Given the description of an element on the screen output the (x, y) to click on. 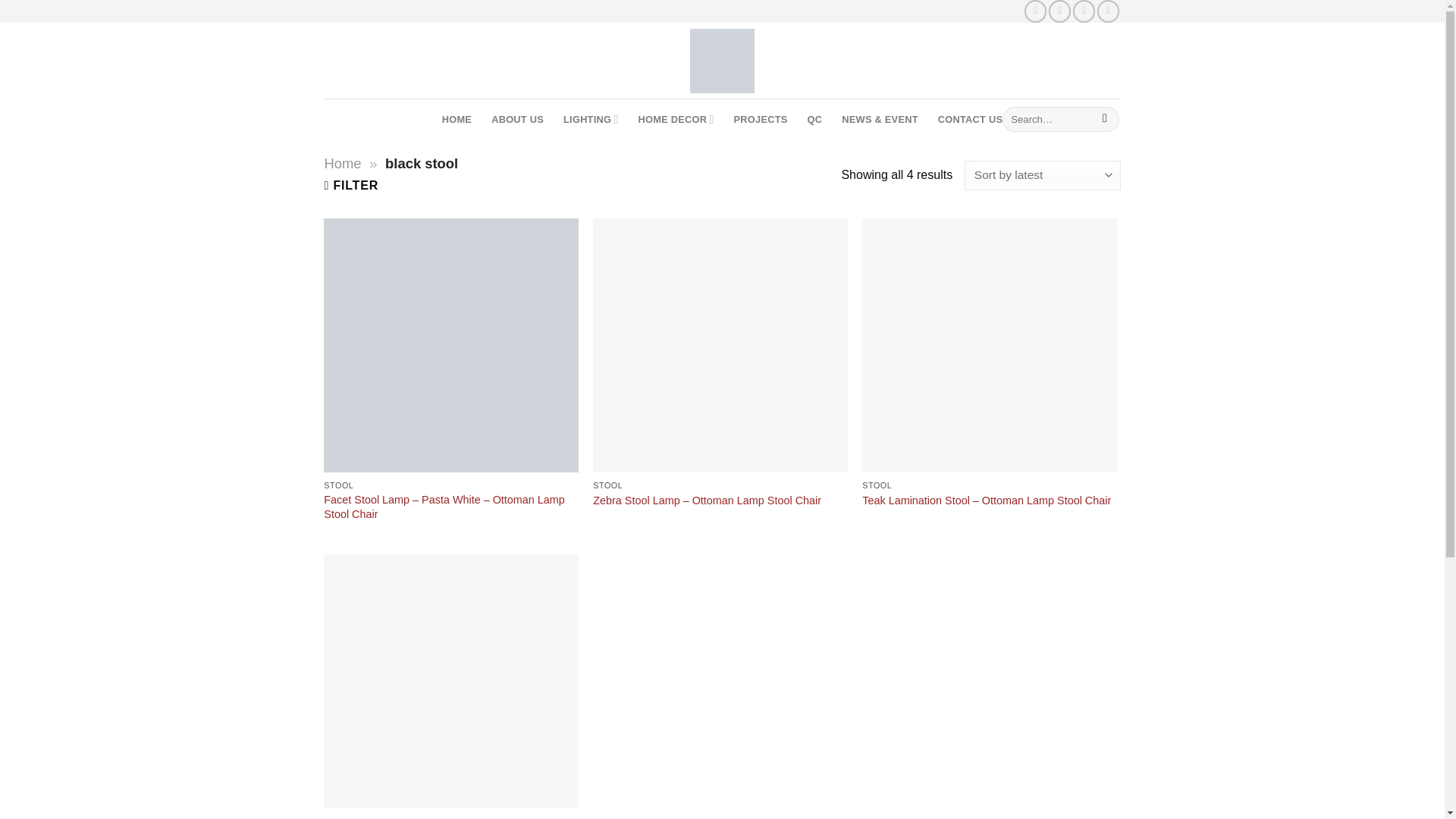
Send us an email (1083, 11)
Subscribe to RSS (1108, 11)
PROJECTS (760, 119)
FILTER (351, 185)
LIGHTING (590, 119)
Follow on Facebook (1035, 11)
Search (1105, 119)
Follow on Instagram (1059, 11)
CONTACT US (970, 119)
HOME DECOR (676, 119)
HOME (456, 119)
Home (342, 163)
ABOUT US (517, 119)
